Given the description of an element on the screen output the (x, y) to click on. 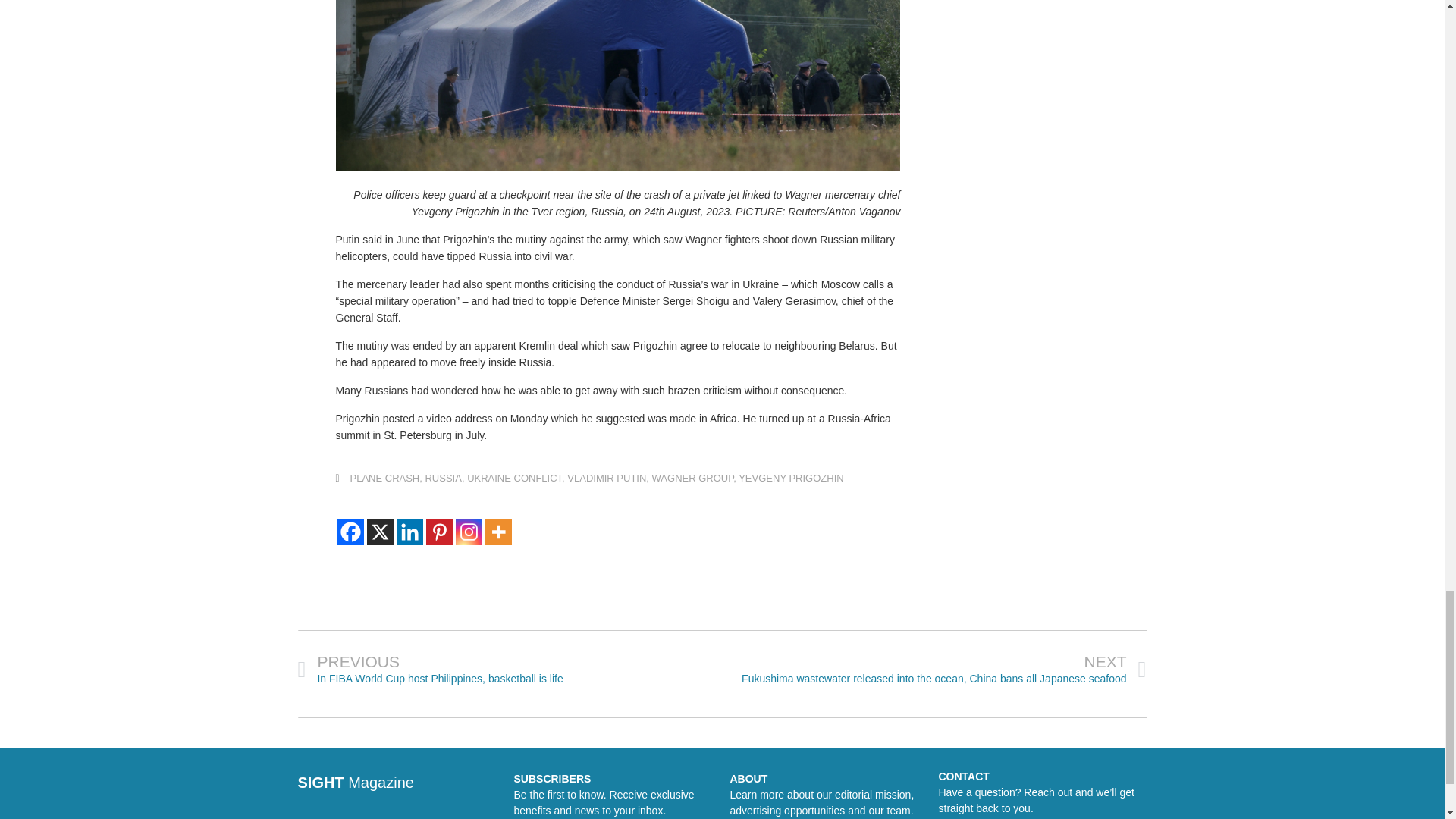
Linkedin (409, 531)
Instagram (467, 531)
Pinterest (439, 531)
Facebook (349, 531)
X (379, 531)
More (498, 531)
